Given the description of an element on the screen output the (x, y) to click on. 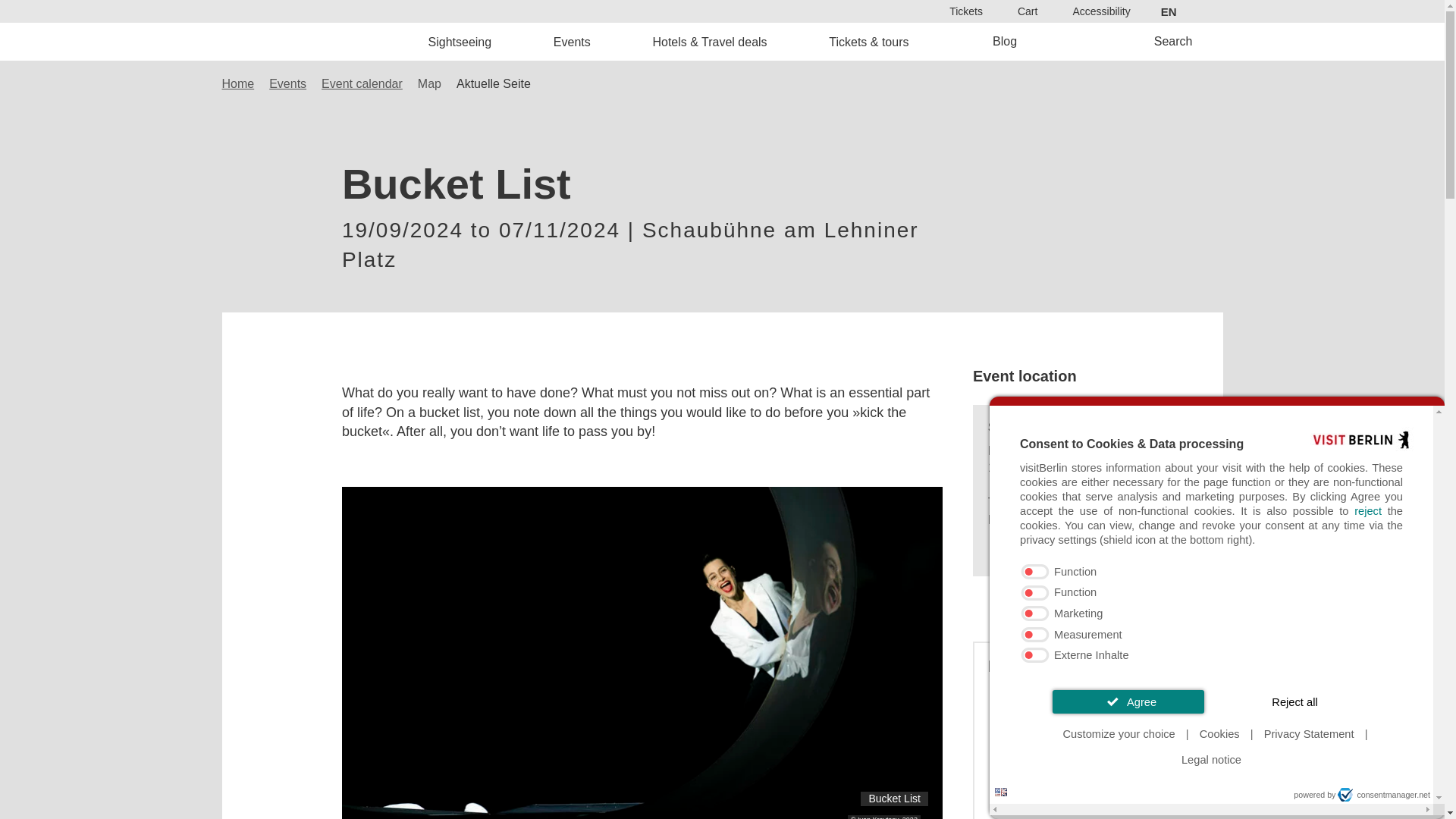
reject (1367, 510)
Language: en (1000, 791)
Privacy Statement (1308, 734)
Find (768, 432)
consentmanager.net (1383, 794)
Cookies (1219, 734)
Events (571, 41)
Home (327, 41)
Reject all (1295, 701)
Legal notice (1211, 759)
Agree (1128, 701)
Customize your choice (1118, 734)
Sightseeing (460, 41)
Purpose (1211, 614)
Language: en (1000, 791)
